Given the description of an element on the screen output the (x, y) to click on. 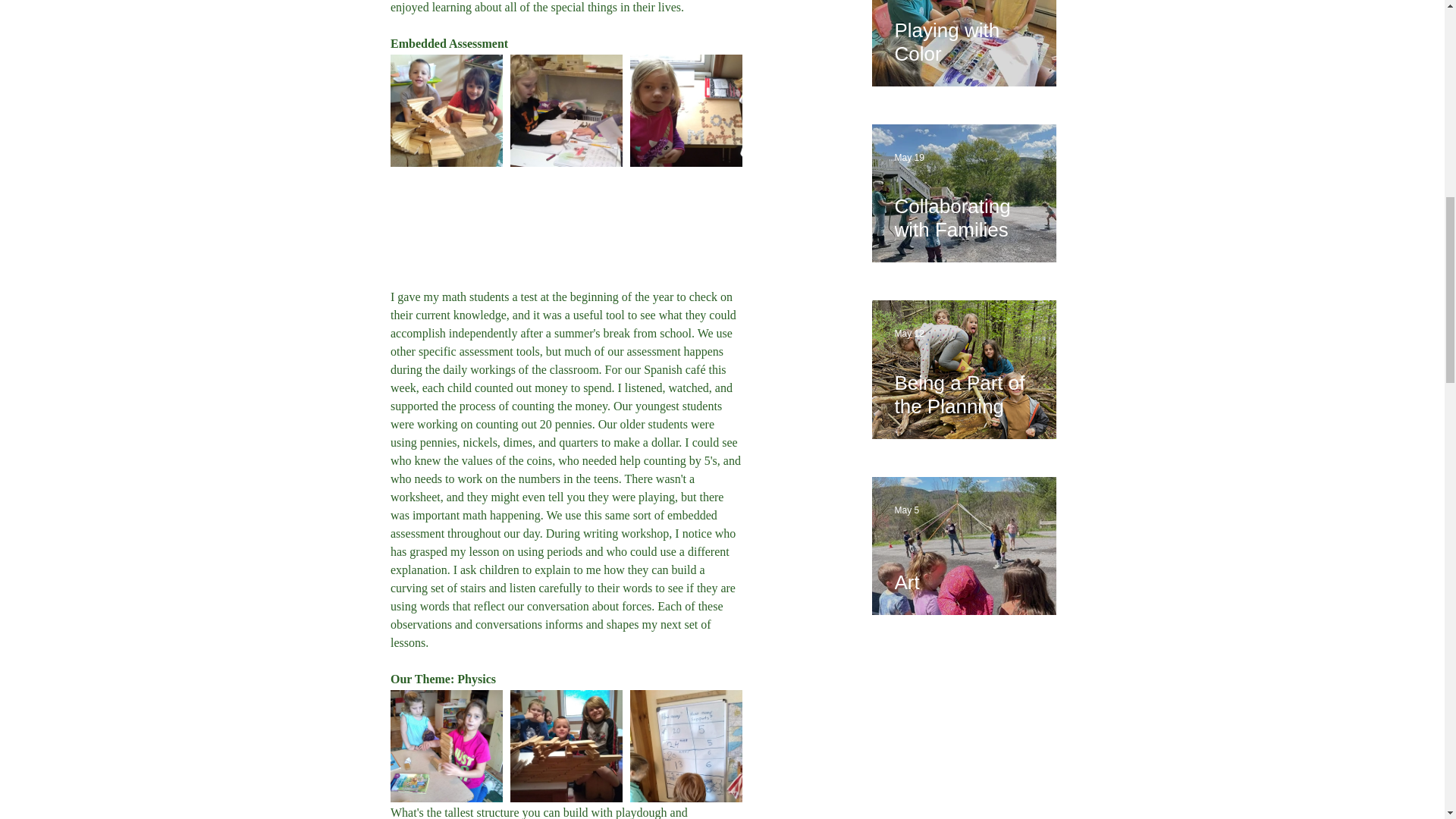
May 5 (907, 510)
Being a Part of the Planning (964, 387)
May 12 (909, 333)
Collaborating with Families (964, 210)
May 19 (909, 157)
Playing with Color (964, 35)
Art (964, 575)
